Given the description of an element on the screen output the (x, y) to click on. 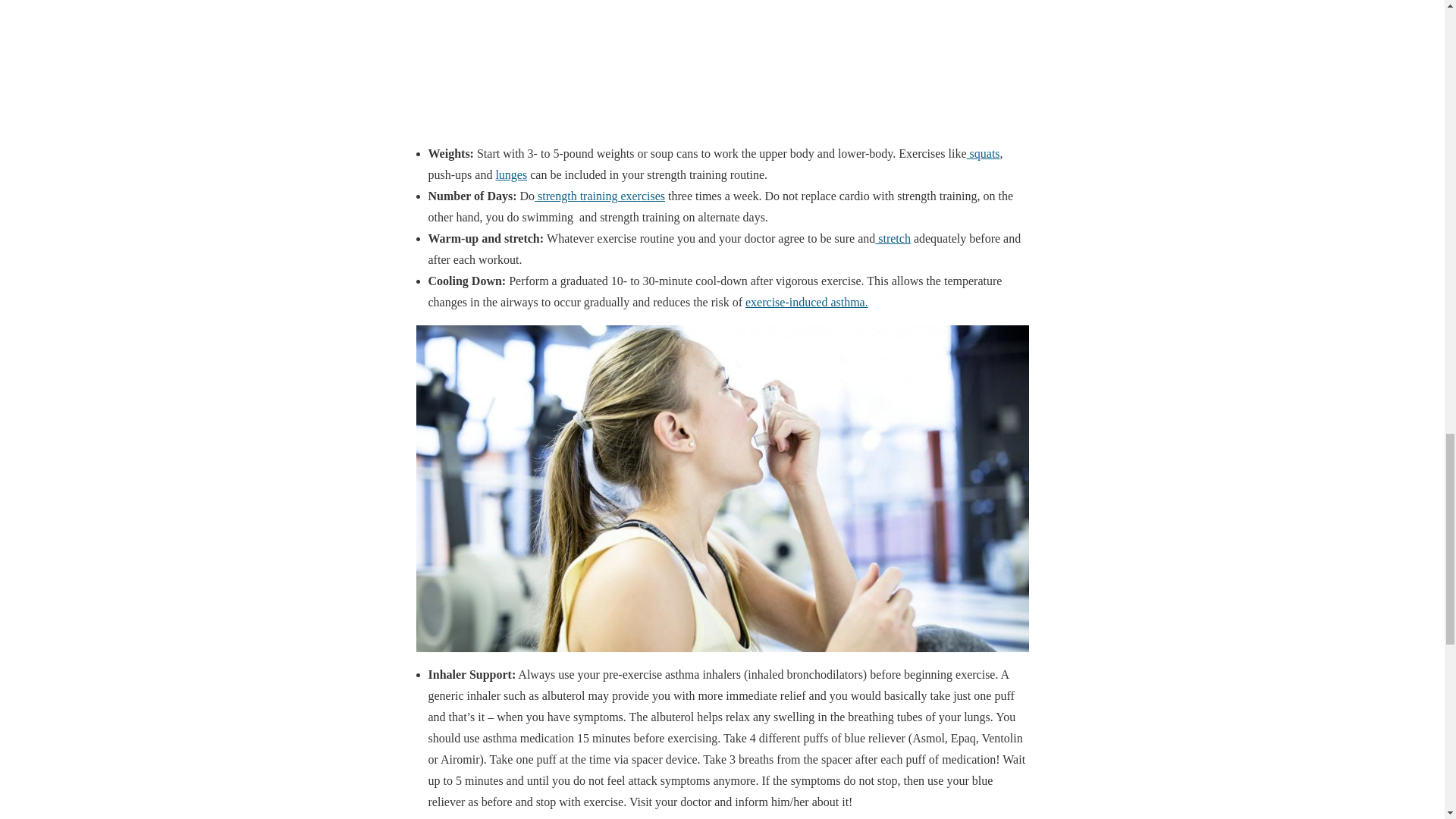
 stretch (893, 237)
exercise-induced asthma. (806, 301)
lunges (511, 174)
 strength training exercises (599, 195)
 squats (983, 153)
